Given the description of an element on the screen output the (x, y) to click on. 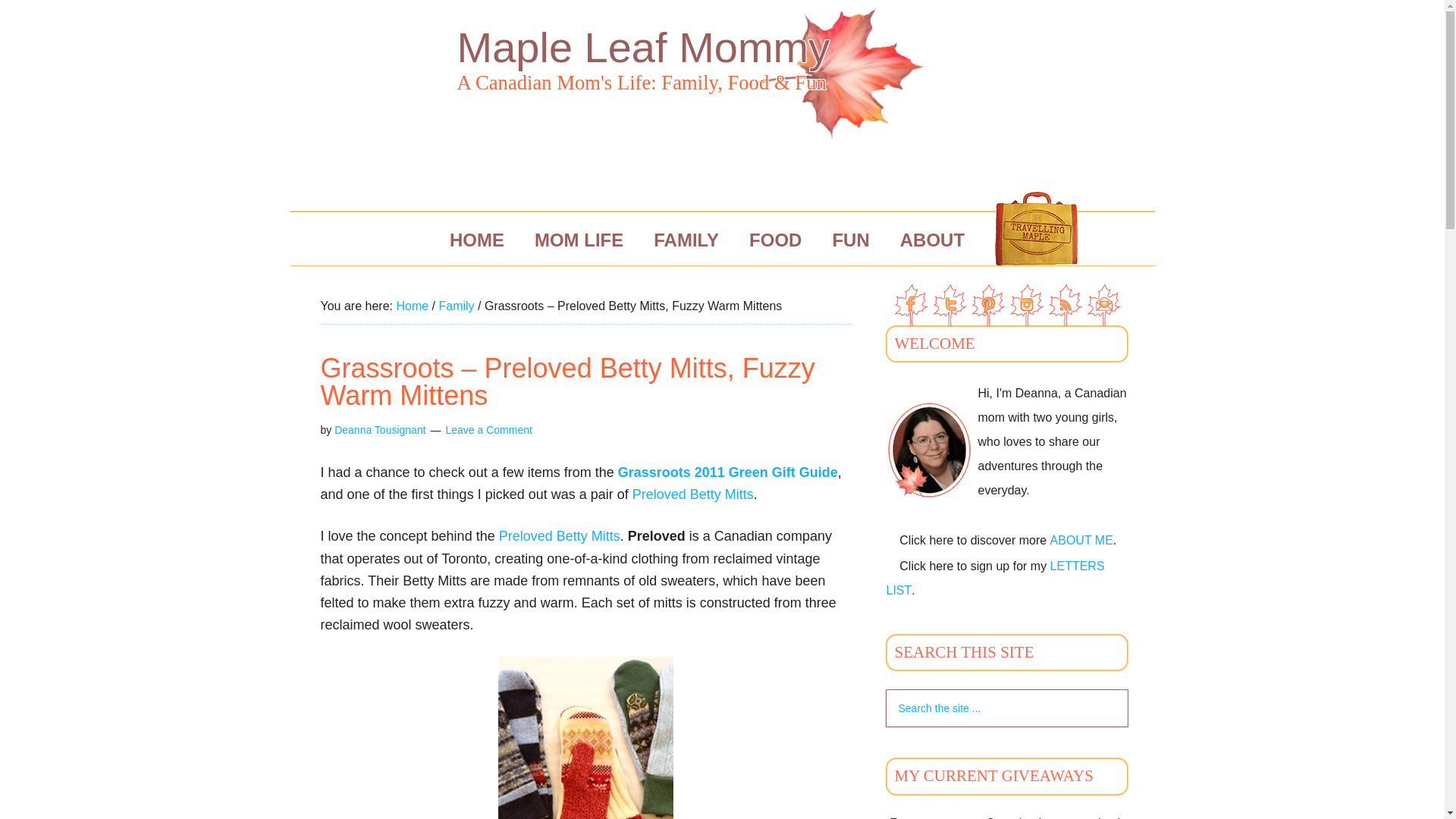
Grassroots 2011 Green Gift Guide (727, 472)
Family (456, 305)
FOOD (774, 240)
Preloved Betty Mitts (692, 494)
MOM LIFE (579, 240)
Leave a Comment (488, 429)
HOME (476, 240)
Preloved Betty Mitts (559, 535)
Maple Leaf Mommy (643, 47)
ABOUT (932, 240)
Home (412, 305)
Deanna Tousignant (379, 429)
FAMILY (686, 240)
